Given the description of an element on the screen output the (x, y) to click on. 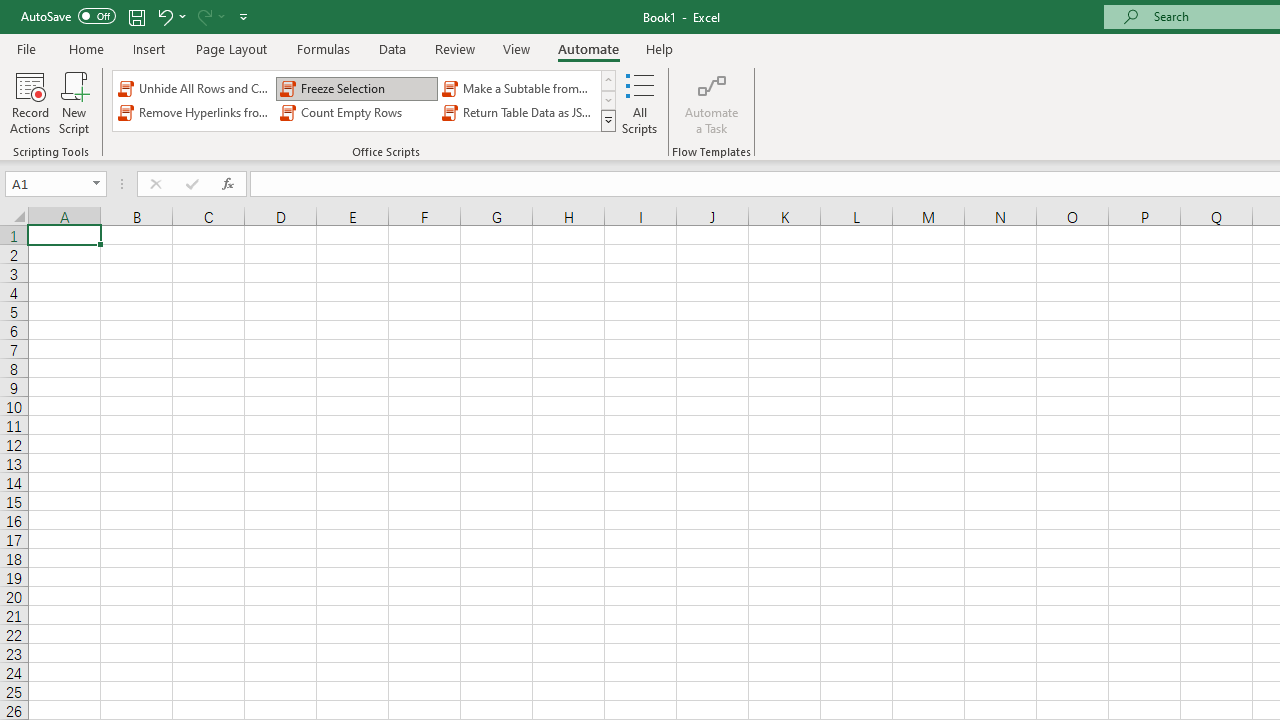
Office Scripts (608, 120)
Return Table Data as JSON (518, 112)
Make a Subtable from a Selection (518, 88)
